Given the description of an element on the screen output the (x, y) to click on. 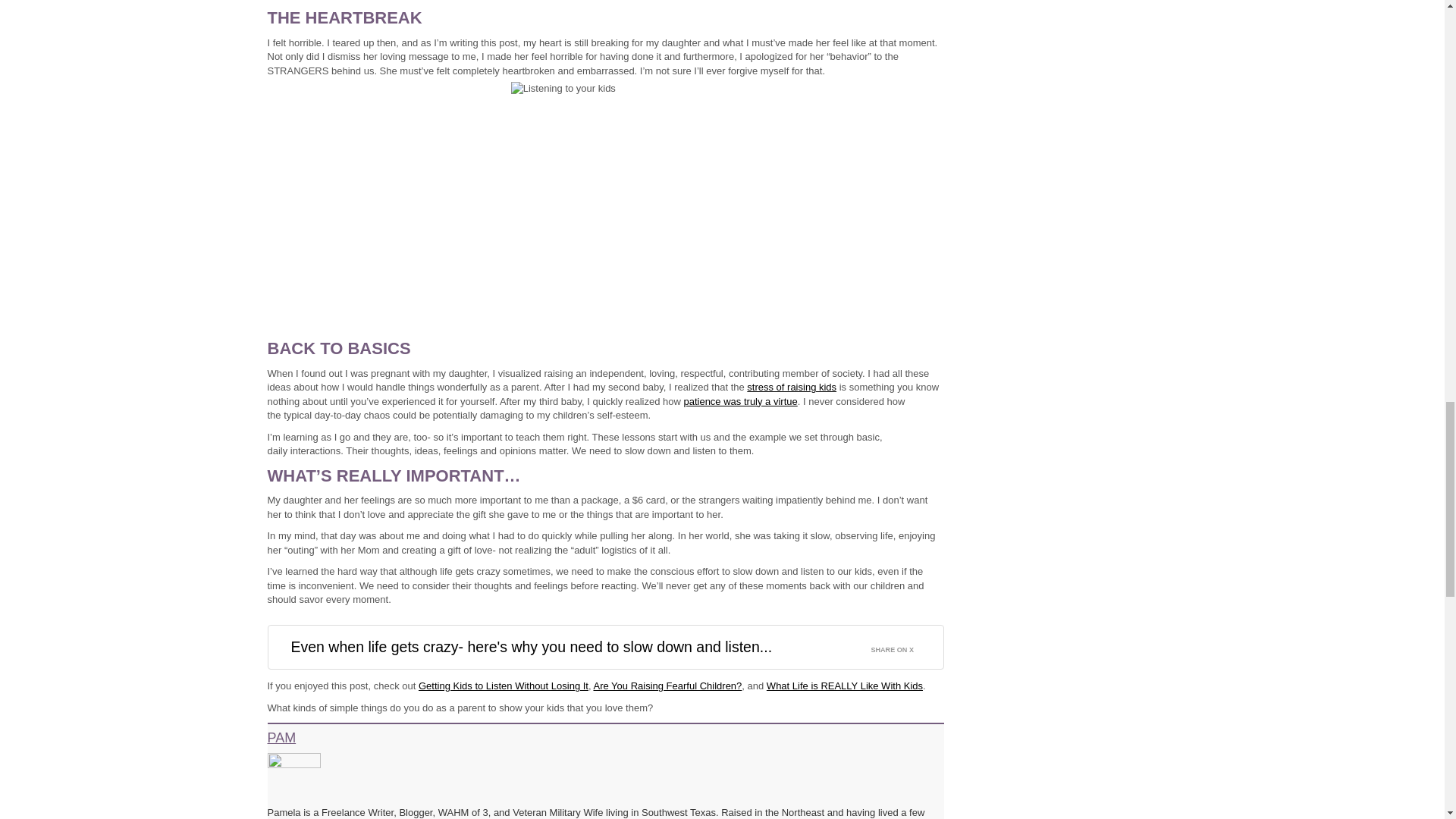
All posts by Pam (280, 737)
stress of raising kids (790, 387)
What Life is REALLY Like With Kids (845, 685)
patience was truly a virtue (739, 401)
Getting Kids to Listen Without Losing It (503, 685)
SHARE ON X (900, 646)
Are You Raising Fearful Children? (666, 685)
PAM (280, 737)
